Given the description of an element on the screen output the (x, y) to click on. 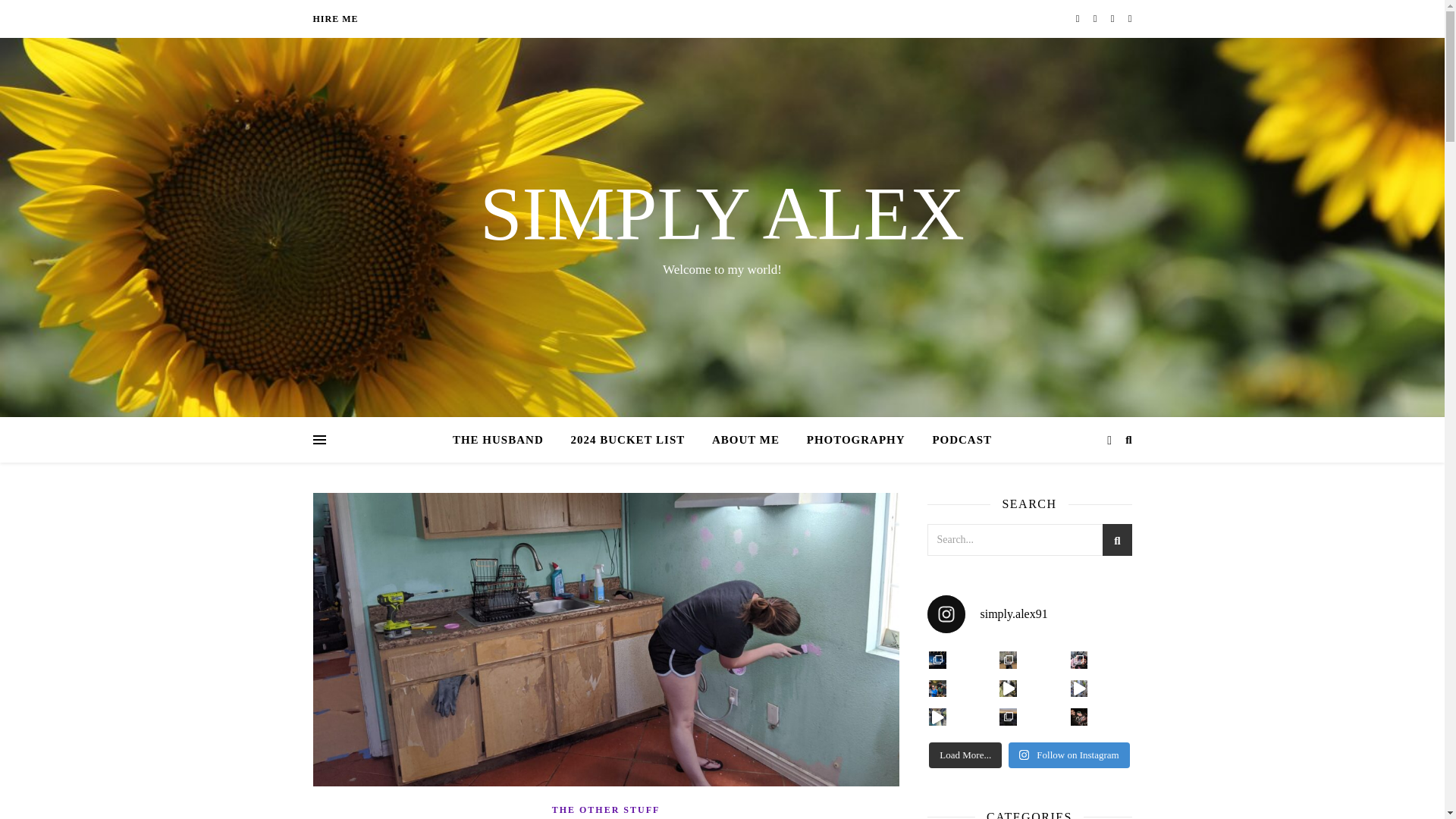
HIRE ME (335, 18)
2024 BUCKET LIST (627, 439)
PHOTOGRAPHY (855, 439)
PODCAST (955, 439)
THE HUSBAND (504, 439)
ABOUT ME (746, 439)
